Given the description of an element on the screen output the (x, y) to click on. 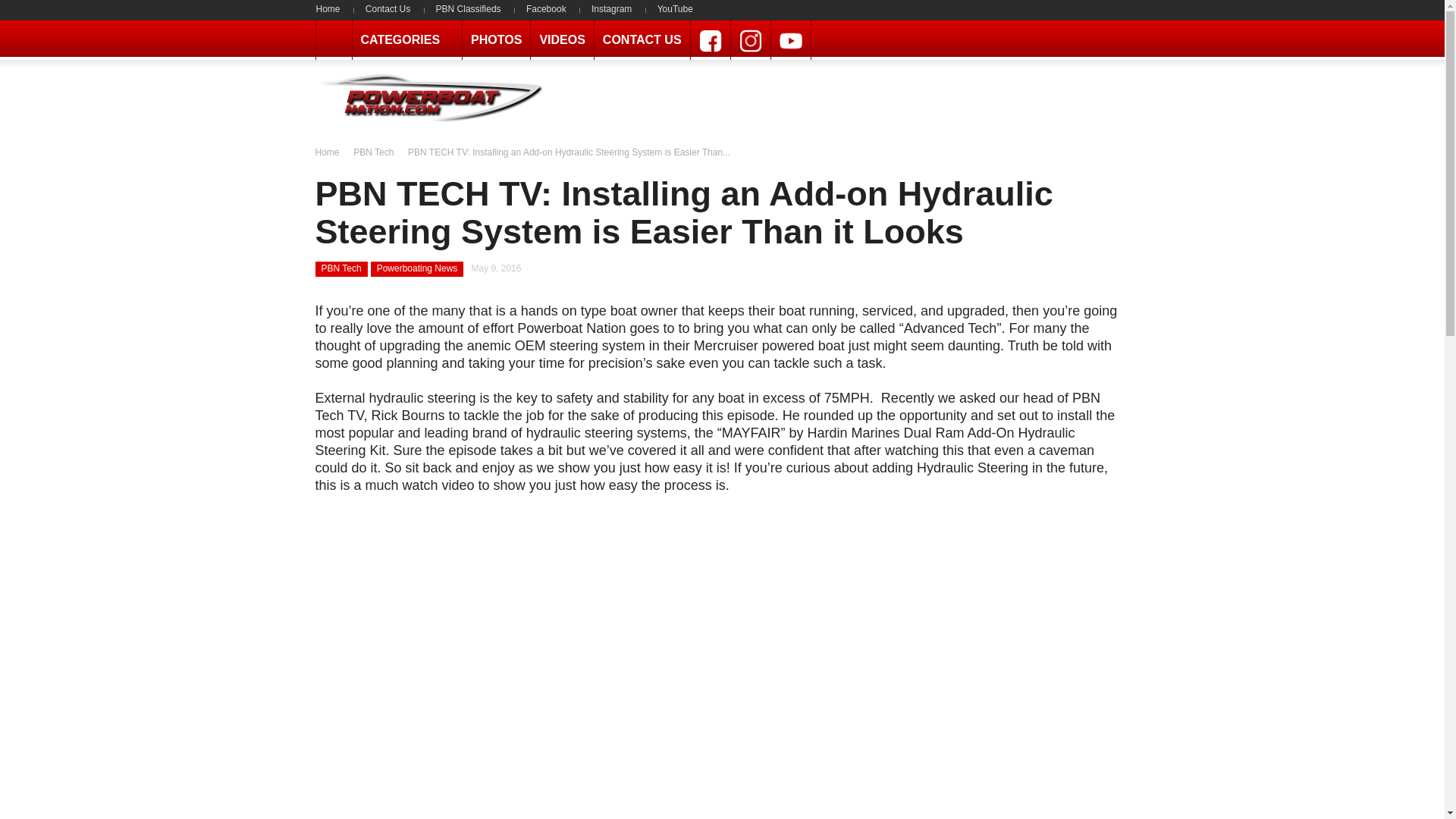
Facebook (710, 39)
View all posts in PBN Tech (373, 152)
PBN Tech (373, 152)
YouTube (675, 9)
Home (332, 9)
Instagram (750, 39)
Contact Us (387, 9)
YouTube (790, 39)
Home (332, 9)
PBN Classifieds (468, 9)
